Given the description of an element on the screen output the (x, y) to click on. 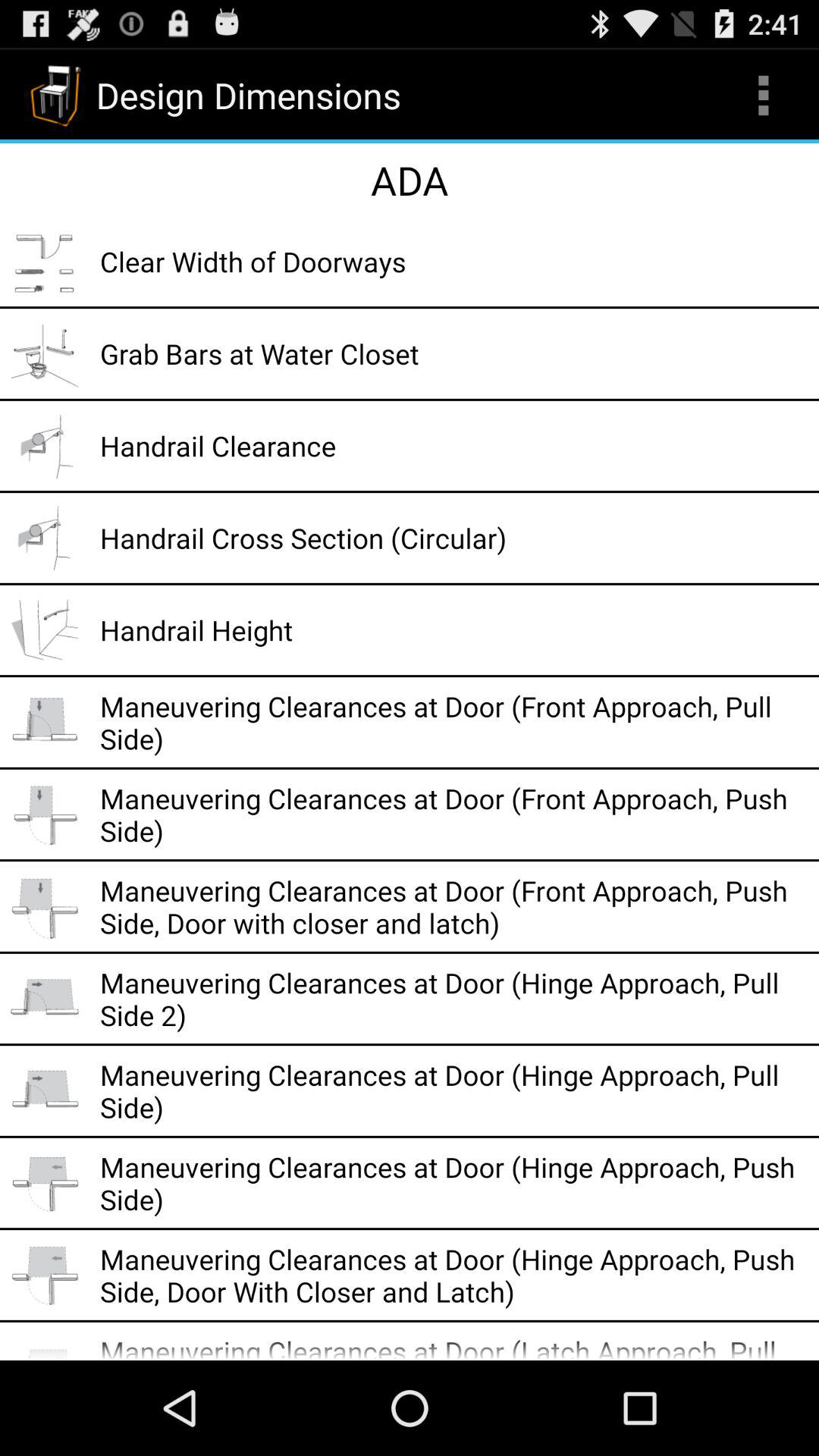
swipe to handrail cross section (454, 537)
